Given the description of an element on the screen output the (x, y) to click on. 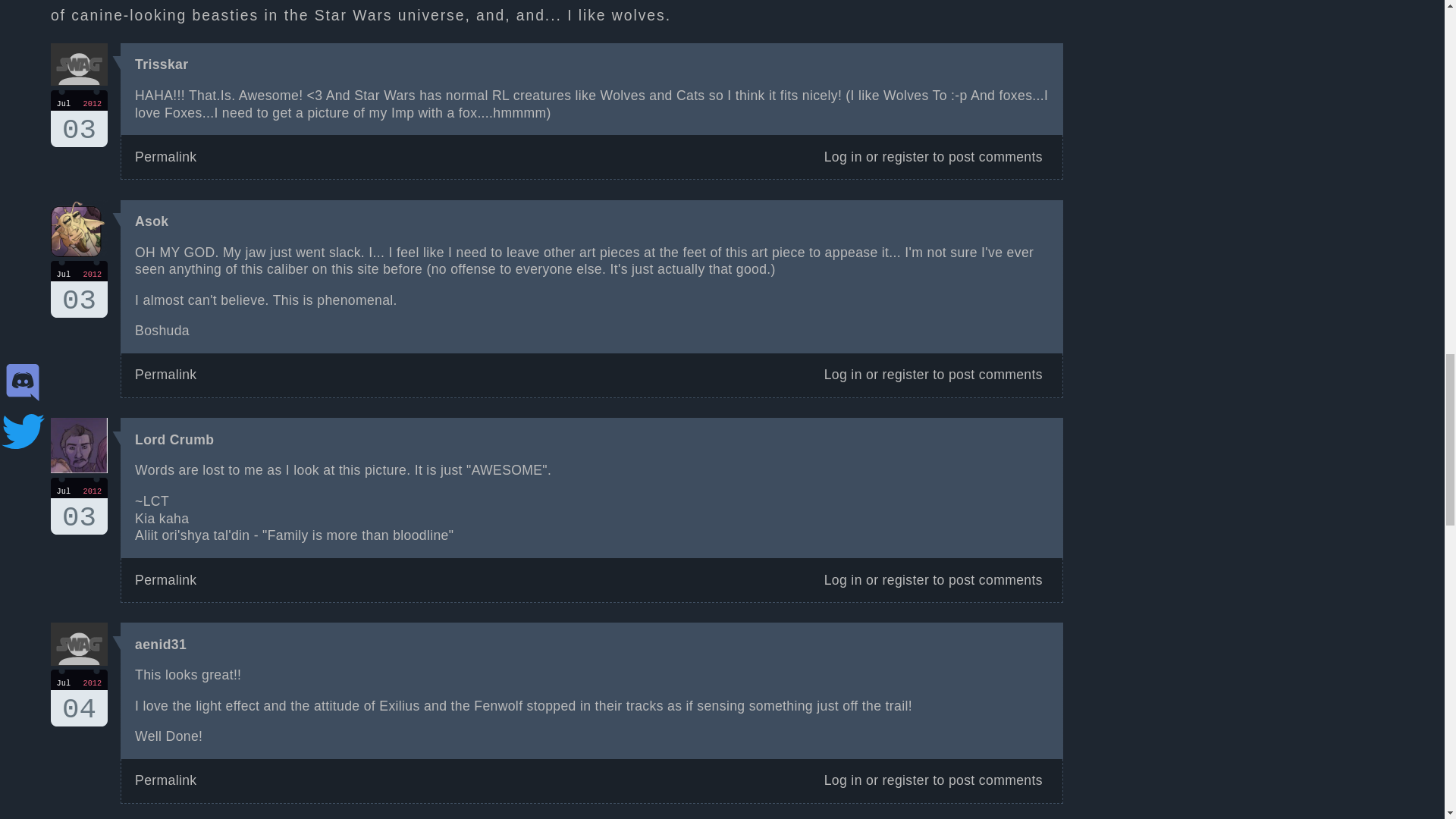
Log in (842, 374)
register (905, 580)
View user profile. (174, 439)
Permalink (165, 156)
Permalink (165, 580)
View user profile. (160, 644)
Log in (842, 580)
Log in (842, 156)
Lord Crumb (174, 439)
View user profile. (151, 221)
register (905, 156)
register (905, 374)
register (905, 780)
View user profile. (161, 64)
